Given the description of an element on the screen output the (x, y) to click on. 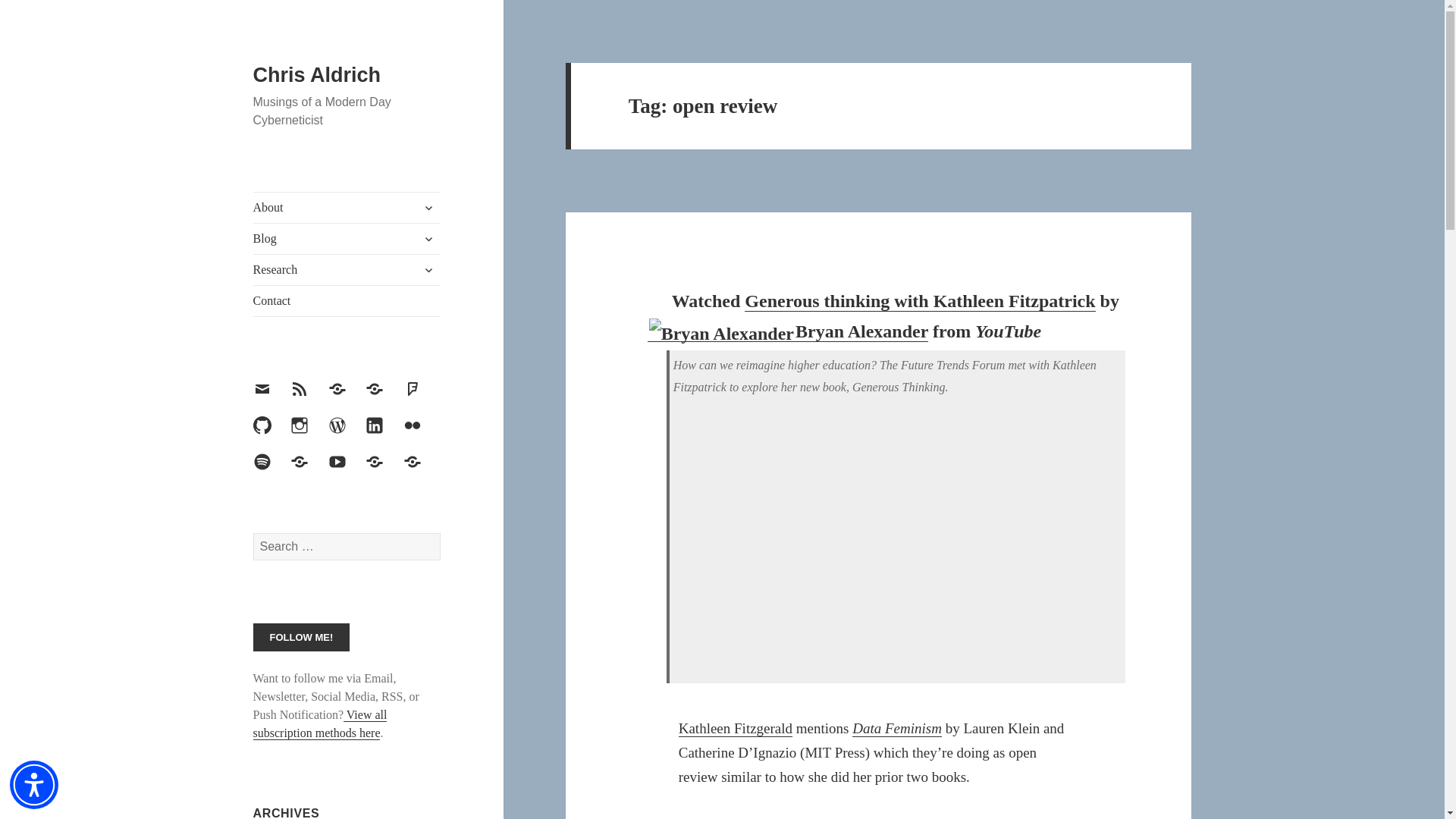
Chris Aldrich (317, 74)
Follow Me! (301, 637)
About (347, 207)
expand child menu (428, 238)
expand child menu (428, 207)
Blog (347, 238)
